Given the description of an element on the screen output the (x, y) to click on. 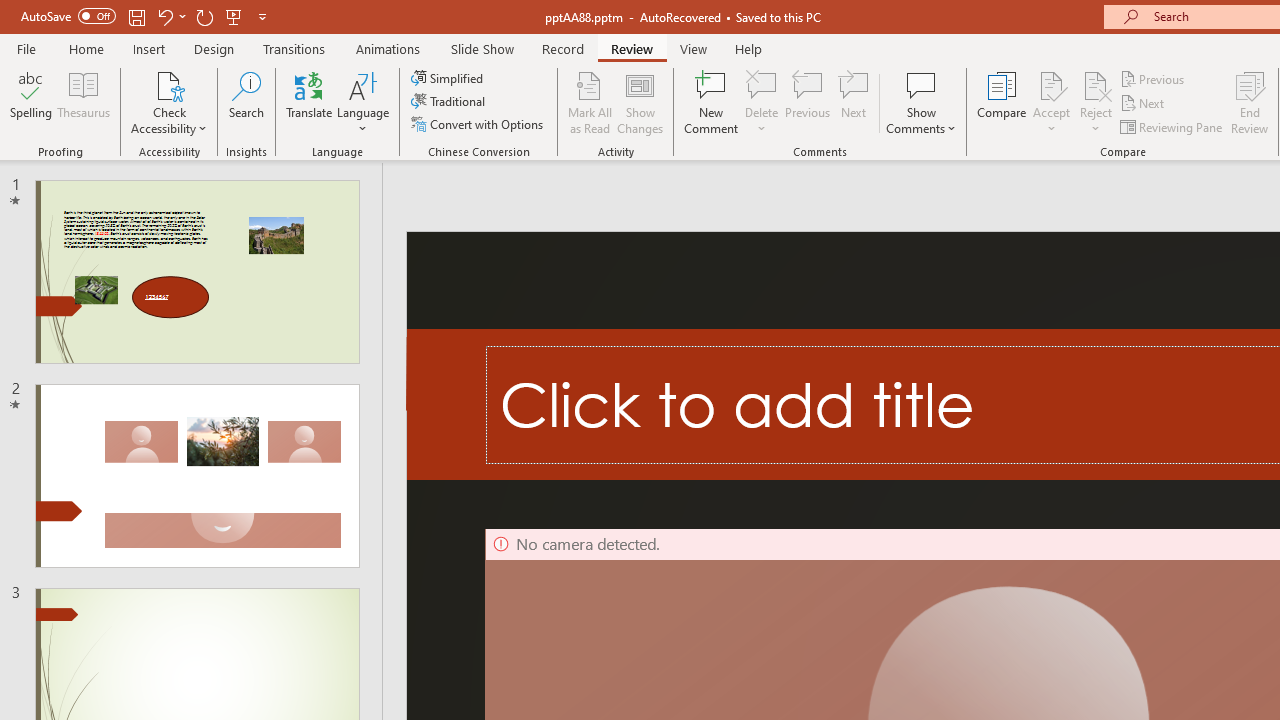
Language (363, 102)
End Review (1249, 102)
Translate (309, 102)
